Given the description of an element on the screen output the (x, y) to click on. 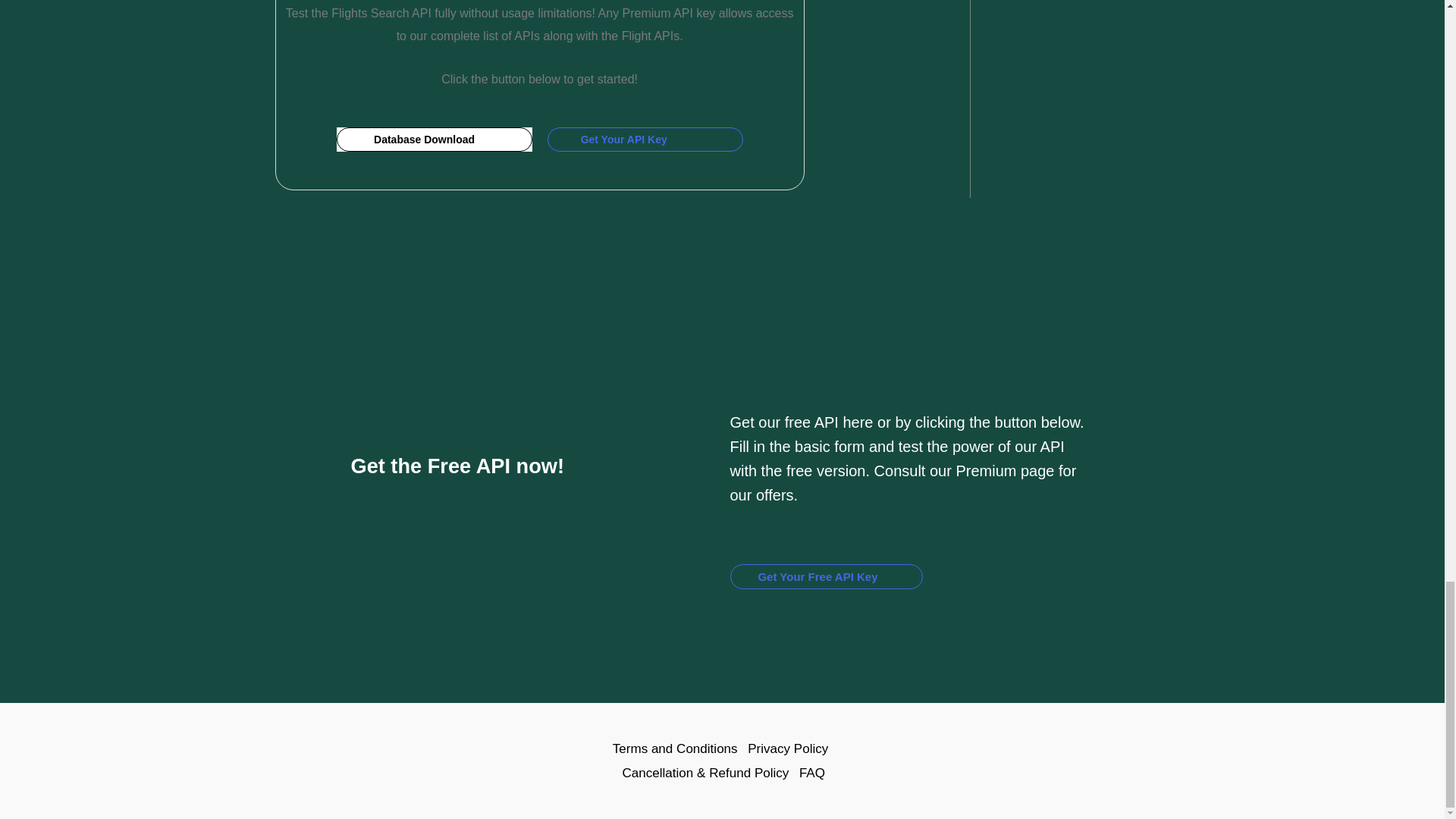
Privacy Policy (786, 749)
Get Your Free API Key (825, 576)
Database Download (434, 139)
Terms and Conditions (676, 749)
FAQ (810, 773)
Get Your API Key (644, 139)
